Given the description of an element on the screen output the (x, y) to click on. 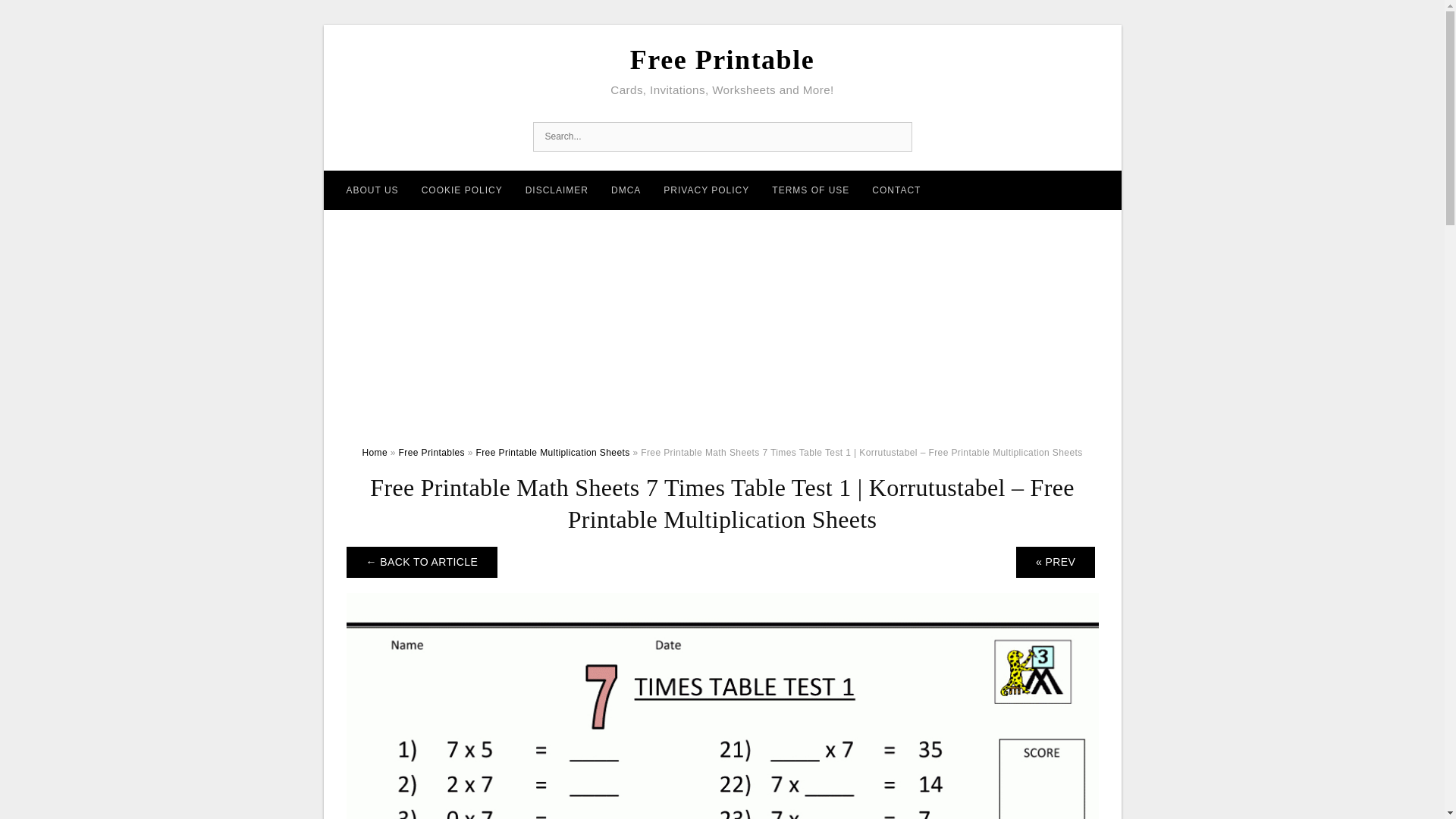
Free Printable Multiplication Sheets (552, 452)
TERMS OF USE (810, 189)
PRIVACY POLICY (706, 189)
DMCA (625, 189)
DISCLAIMER (556, 189)
ABOUT US (372, 189)
Free Printables (431, 452)
Search (895, 137)
Home (374, 452)
Free Printable (721, 60)
